Given the description of an element on the screen output the (x, y) to click on. 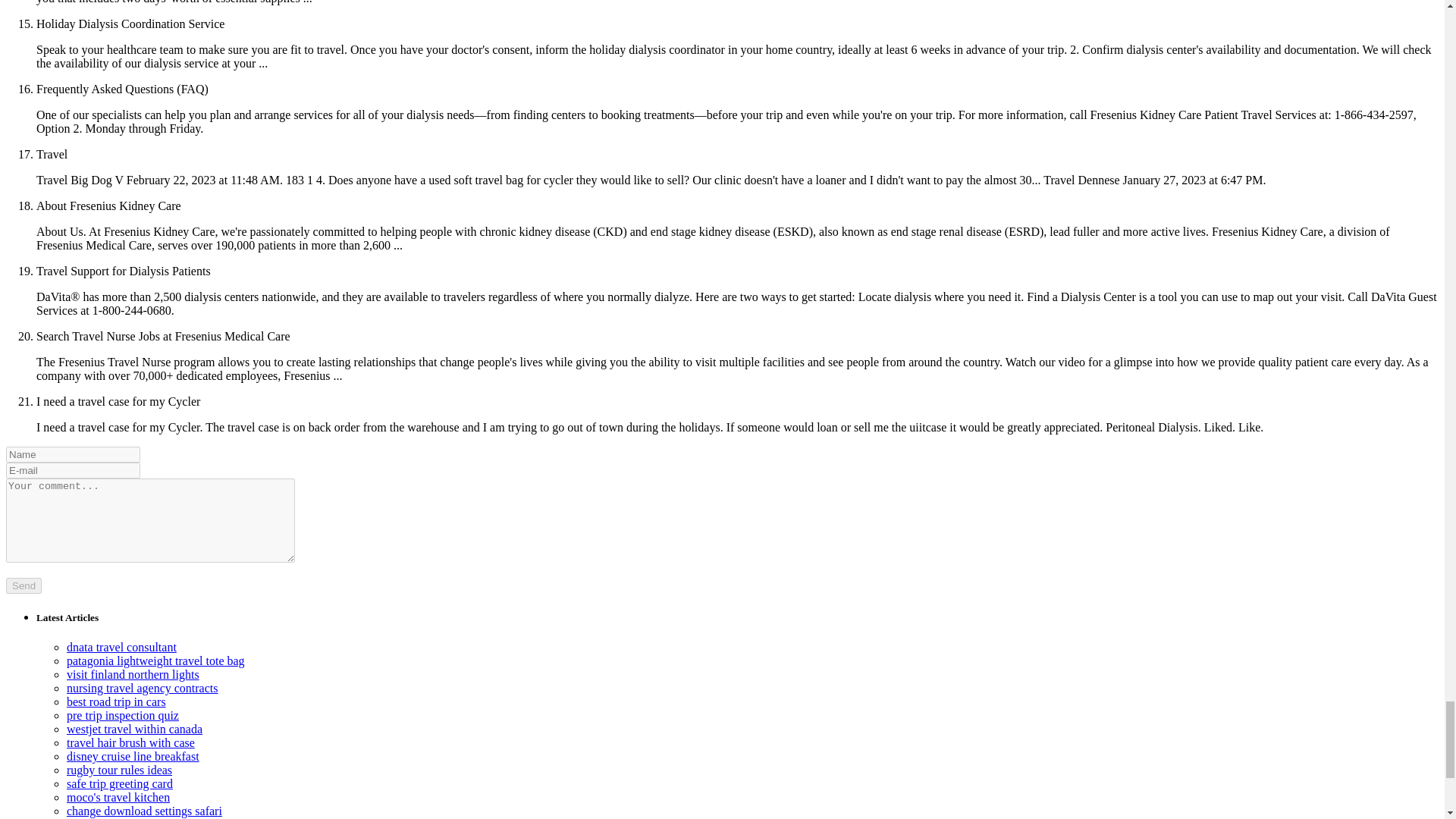
disney cruise line breakfast (132, 756)
safe trip greeting card (119, 783)
nursing travel agency contracts (141, 687)
visit finland northern lights (132, 674)
Send (23, 585)
change download settings safari (144, 810)
patagonia lightweight travel tote bag (155, 660)
best road trip in cars (115, 701)
travel hair brush with case (130, 742)
dnata travel consultant (121, 646)
